Given the description of an element on the screen output the (x, y) to click on. 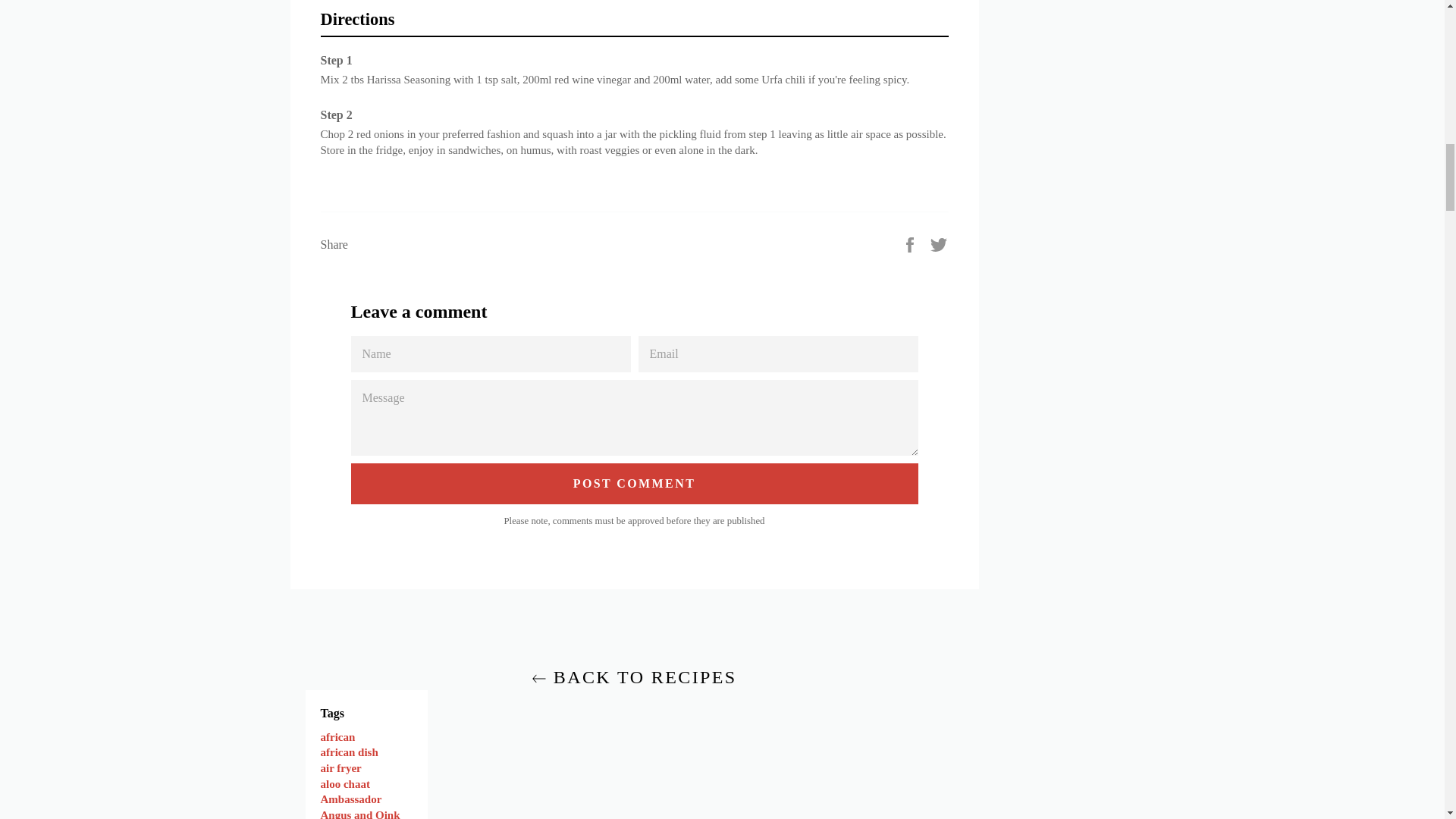
Share on Facebook (911, 242)
Show articles tagged aloo chaat (344, 784)
Show articles tagged african (337, 736)
Show articles tagged african dish (348, 752)
Show articles tagged Ambassador (350, 799)
Tweet on Twitter (938, 242)
Show articles tagged air fryer (340, 767)
Post comment (633, 483)
Show articles tagged Angus and Oink (359, 814)
